Given the description of an element on the screen output the (x, y) to click on. 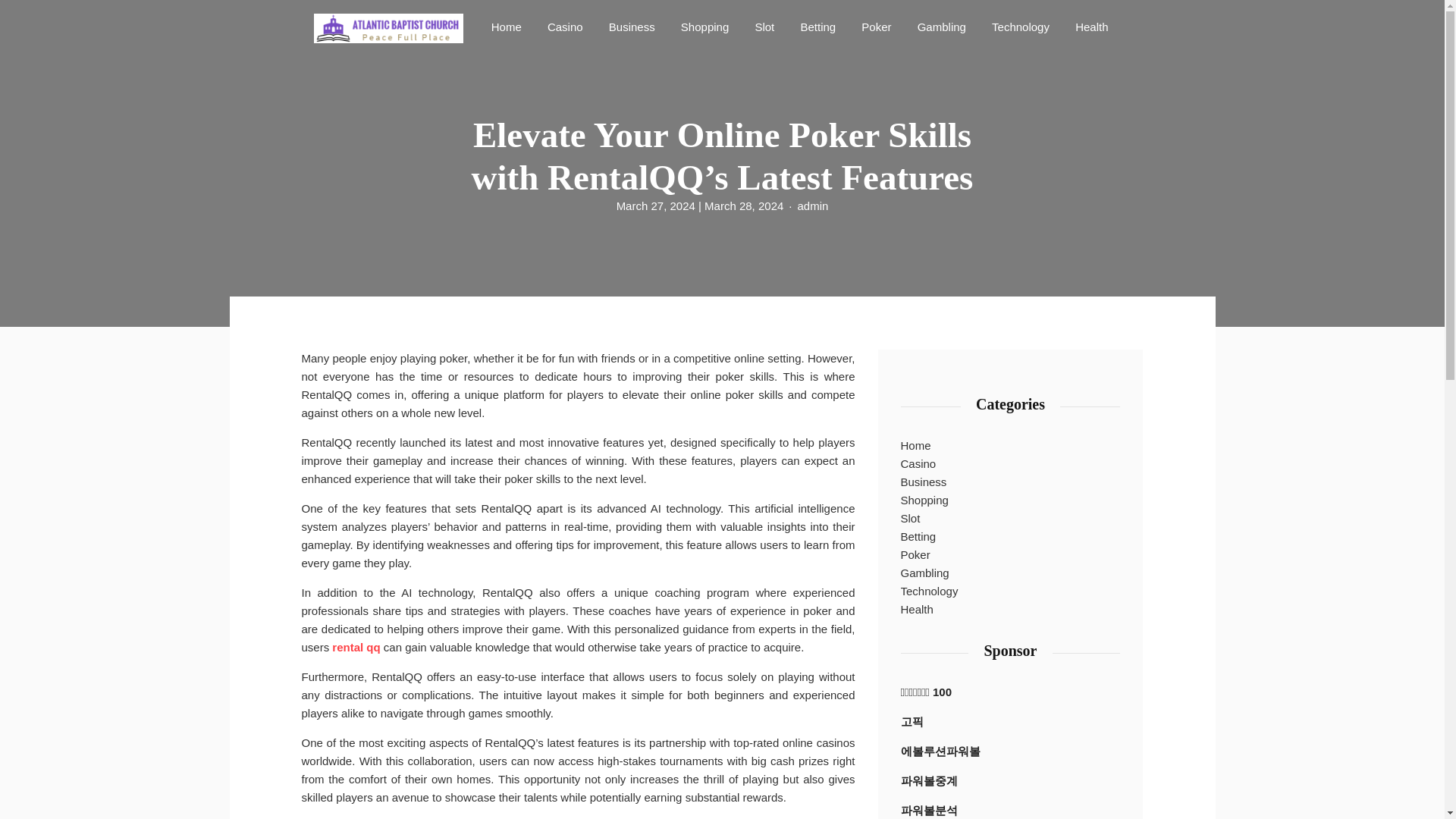
Betting (918, 536)
Health (1091, 26)
Home (916, 445)
rental qq (355, 647)
Casino (565, 26)
Home (506, 26)
Gambling (942, 26)
Health (1091, 26)
Business (631, 26)
Technology (1020, 26)
Shopping (704, 26)
Business (631, 26)
Technology (1020, 26)
Poker (915, 555)
Health (917, 609)
